Given the description of an element on the screen output the (x, y) to click on. 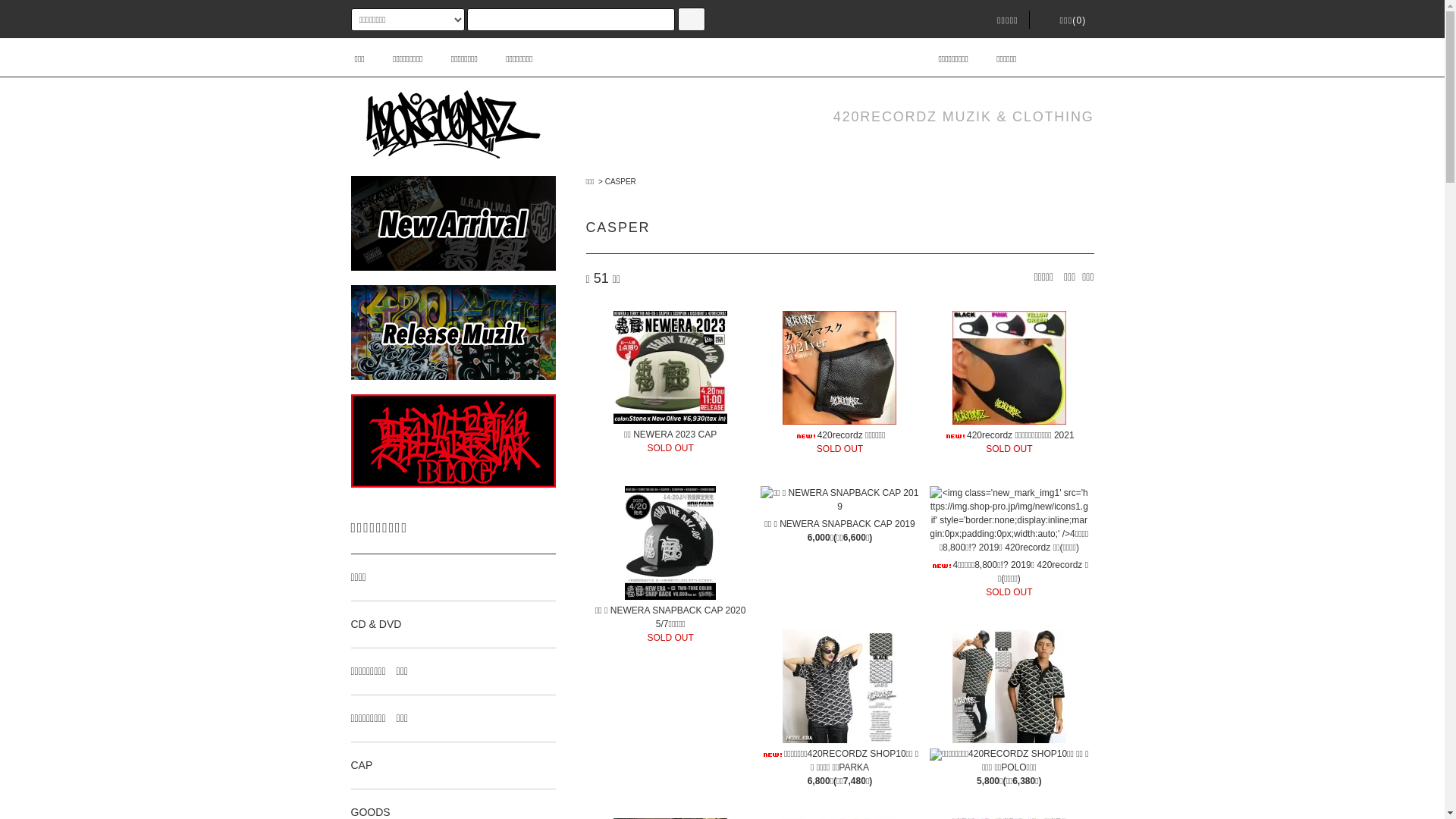
CD & DVD Element type: text (452, 624)
CAP Element type: text (452, 765)
CASPER Element type: text (620, 181)
